Given the description of an element on the screen output the (x, y) to click on. 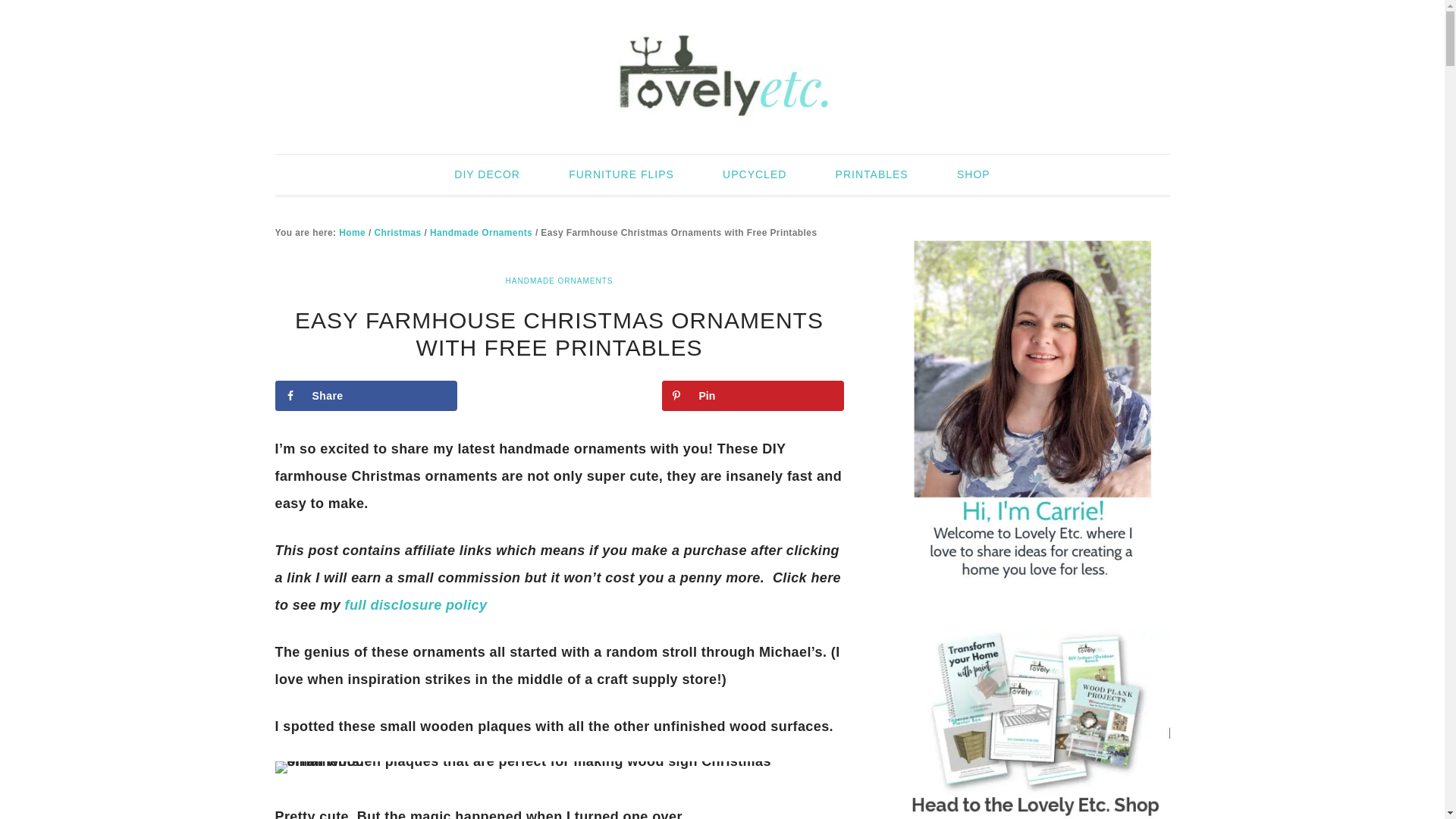
Share on Facebook (366, 395)
Pin (752, 395)
Handmade Ornaments (480, 232)
Share on X (559, 395)
DIY DECOR (486, 174)
Save to Pinterest (752, 395)
Tweet (559, 395)
FURNITURE FLIPS (621, 174)
Home (352, 232)
full disclosure policy (416, 604)
